Given the description of an element on the screen output the (x, y) to click on. 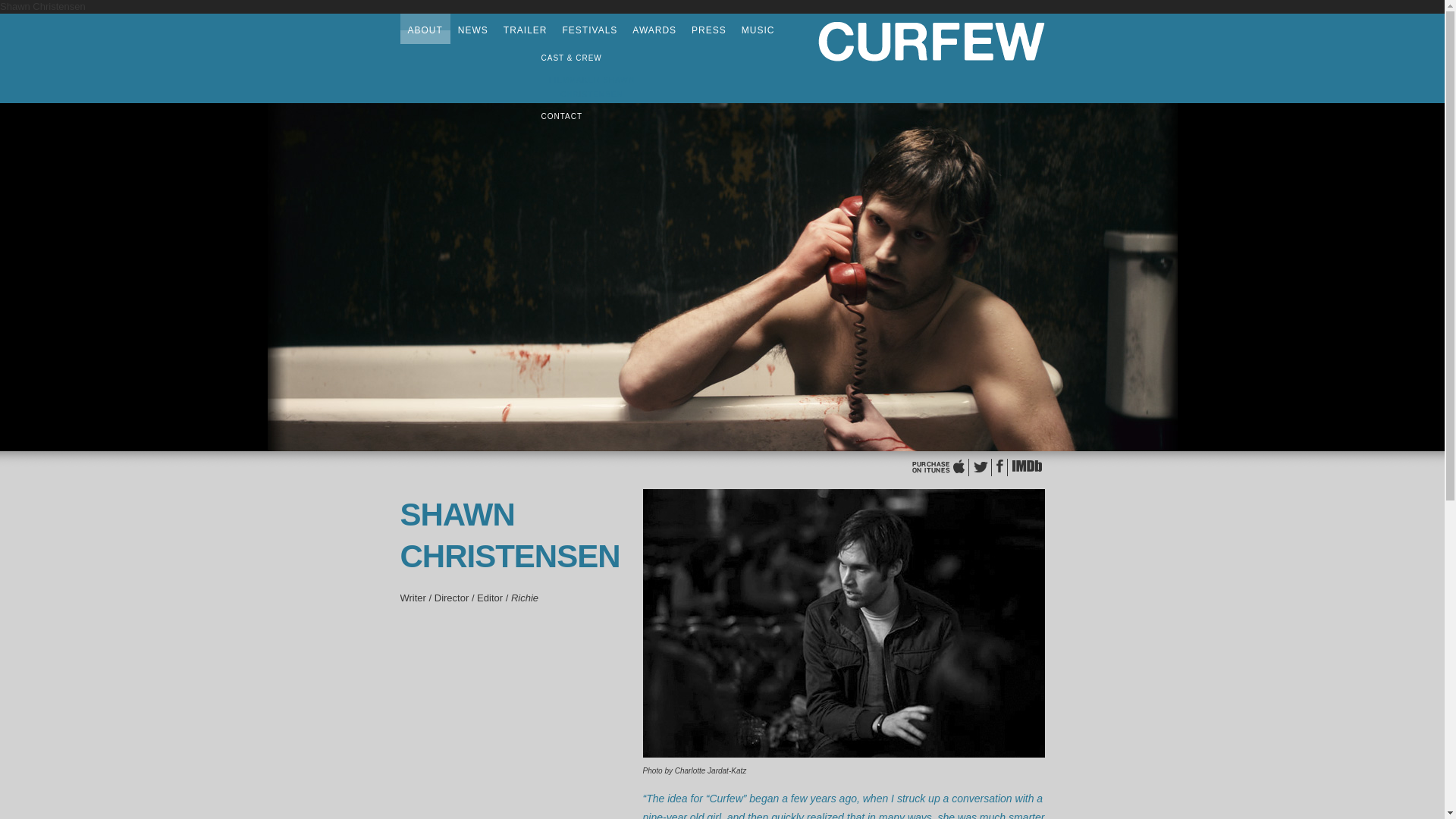
FILMMAKER SHAWN CHRISTENSEN (591, 87)
ABOUT (424, 33)
PRESS (708, 33)
FESTIVALS (590, 33)
CONTACT (562, 116)
TRAILER (525, 33)
AWARDS (654, 33)
NEWS (472, 33)
MUSIC (758, 33)
